Given the description of an element on the screen output the (x, y) to click on. 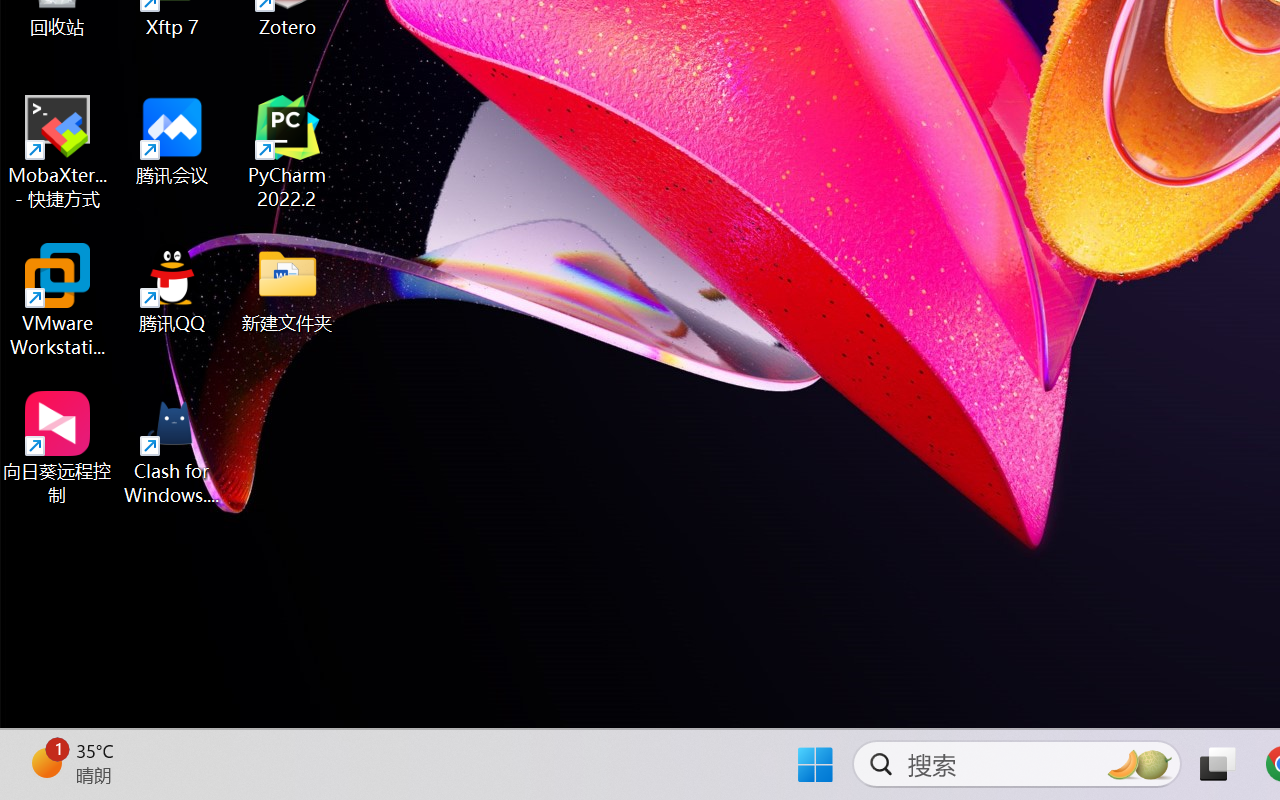
VMware Workstation Pro (57, 300)
PyCharm 2022.2 (287, 152)
